Given the description of an element on the screen output the (x, y) to click on. 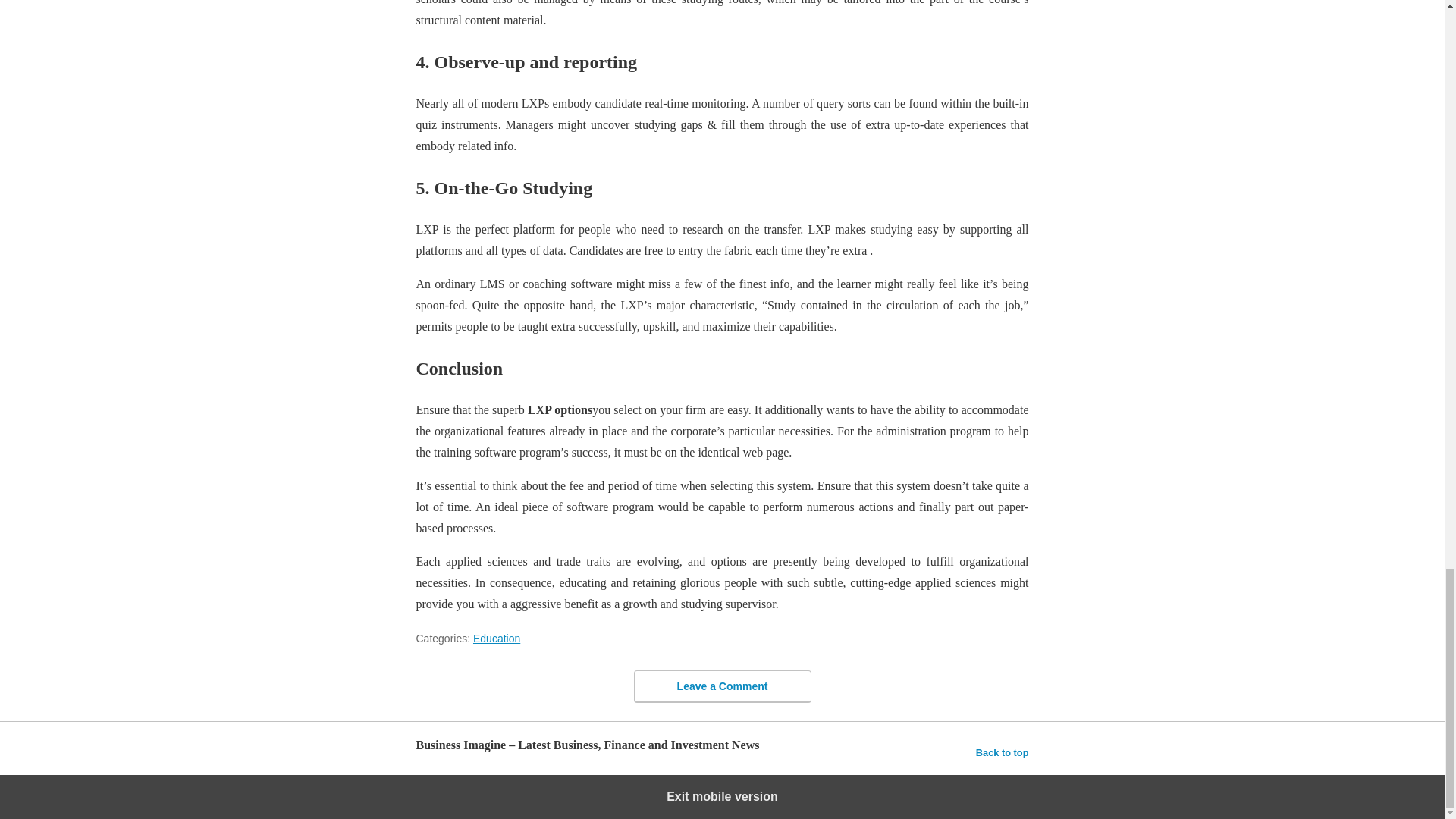
Leave a Comment (721, 686)
Back to top (1002, 752)
Education (496, 638)
